Given the description of an element on the screen output the (x, y) to click on. 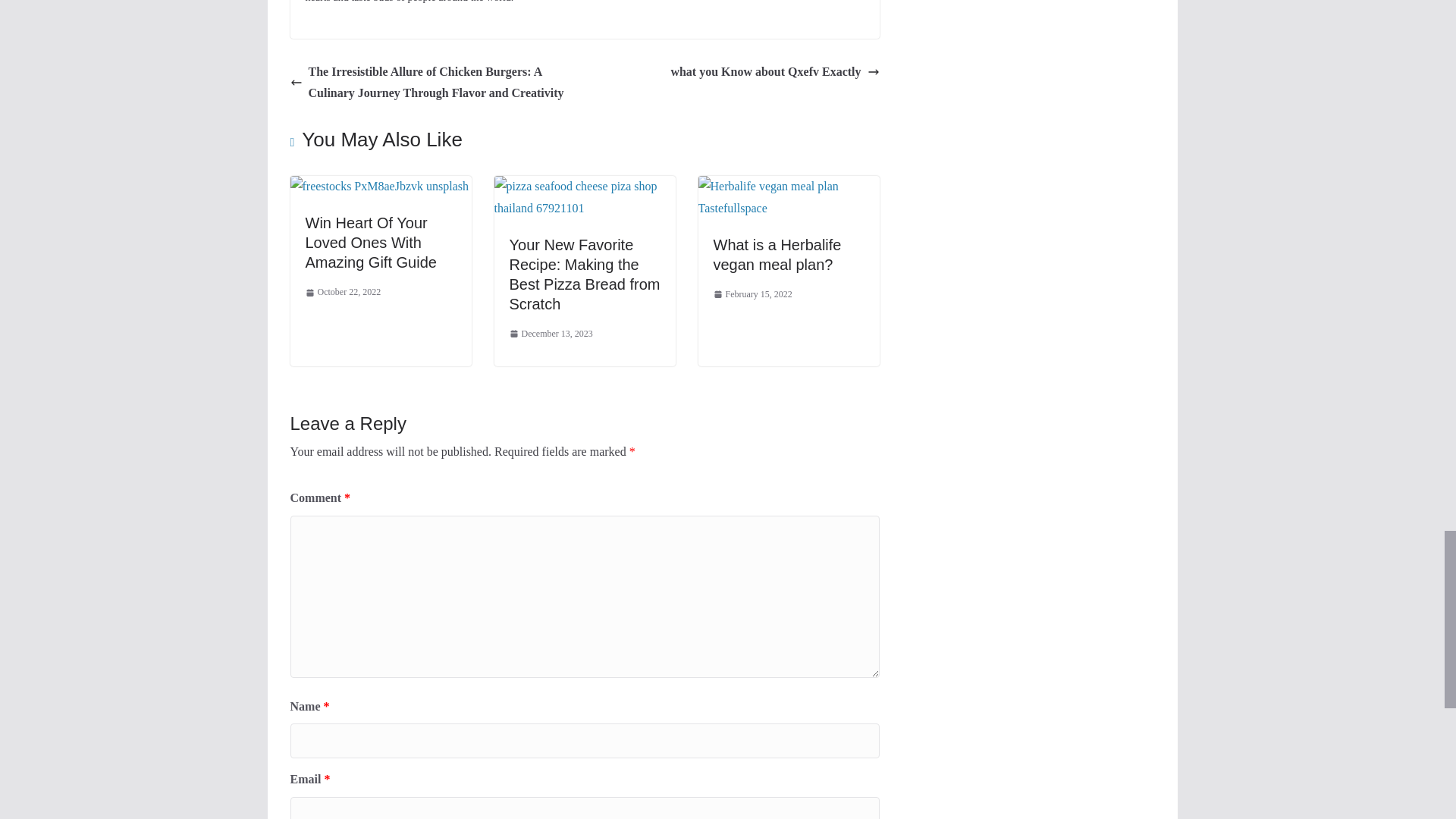
Win Heart Of Your Loved Ones With Amazing Gift Guide 3 (378, 187)
Win Heart Of Your Loved Ones With Amazing Gift Guide (378, 185)
